Given the description of an element on the screen output the (x, y) to click on. 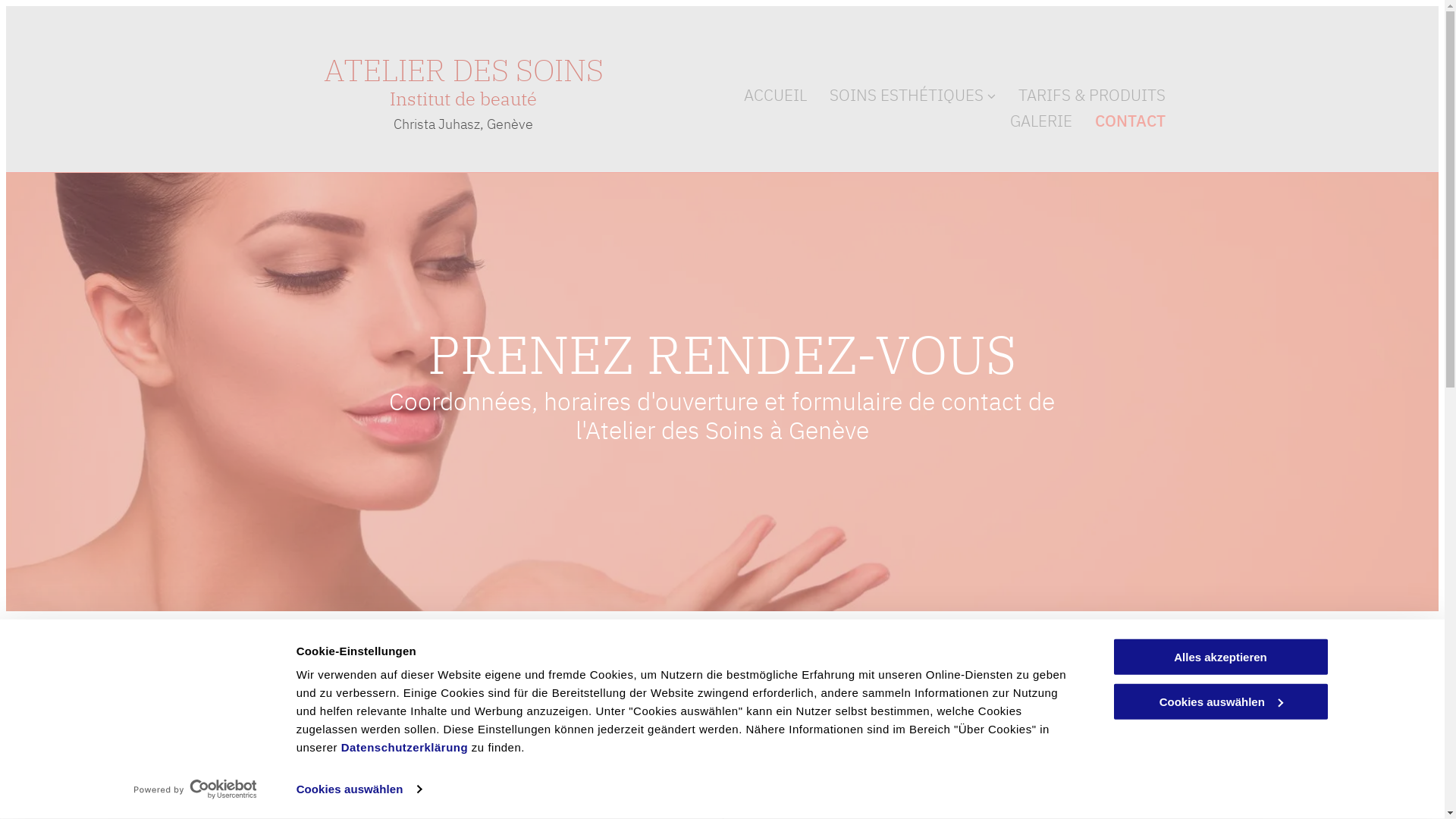
CONTACT Element type: text (1130, 121)
juhasz_kriszta@yahoo.com Element type: text (420, 808)
Alles akzeptieren Element type: text (1219, 656)
ACCUEIL Element type: text (774, 95)
ATELIER DES SOINS Element type: text (463, 69)
TARIFS & PRODUITS Element type: text (1091, 95)
079 525 86 28 Element type: text (406, 782)
GALERIE Element type: text (1041, 121)
